Given the description of an element on the screen output the (x, y) to click on. 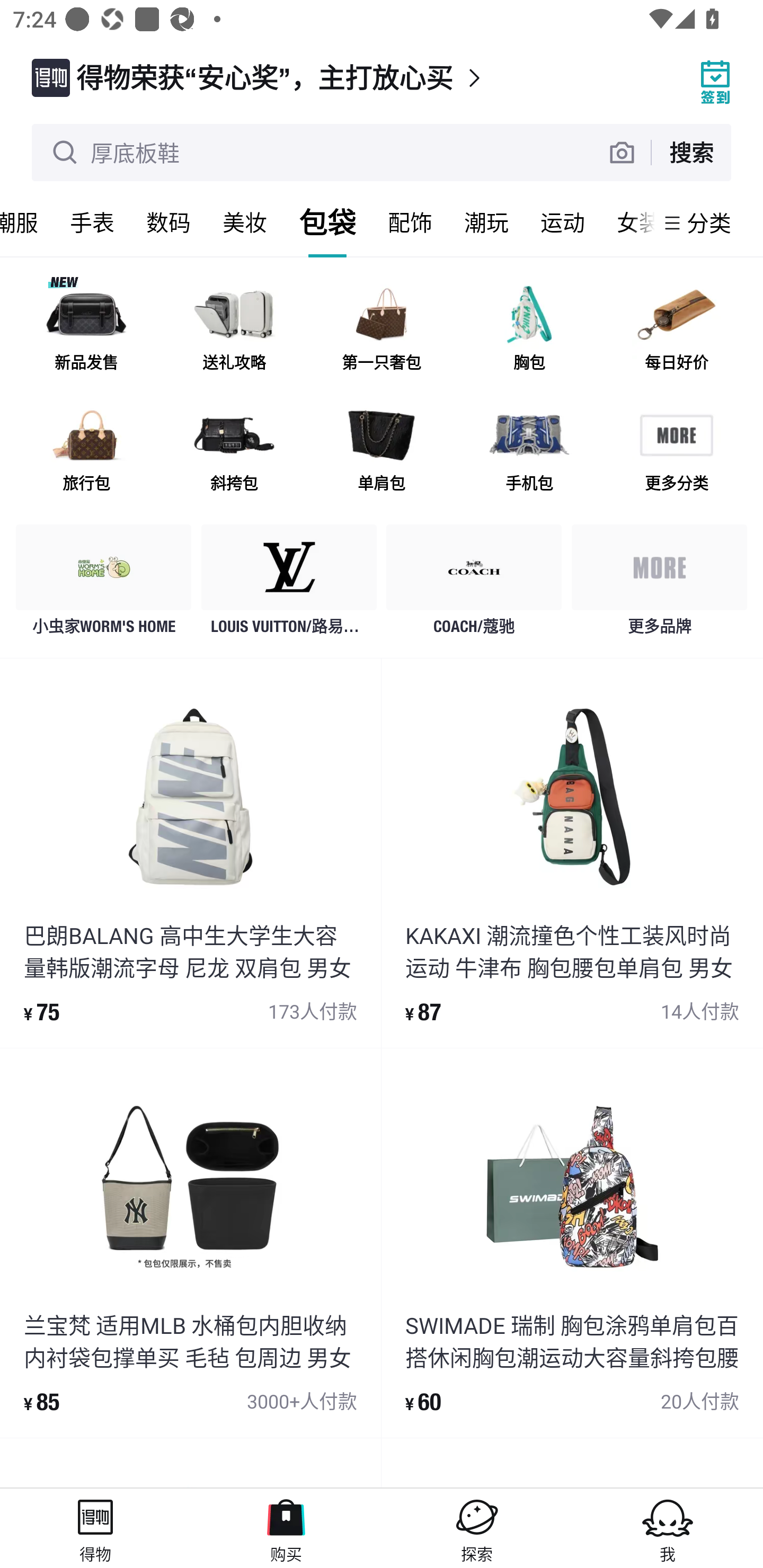
搜索 (690, 152)
潮服 (27, 222)
手表 (92, 222)
数码 (168, 222)
美妆 (244, 222)
包袋 (327, 222)
配饰 (410, 222)
潮玩 (486, 222)
运动 (562, 222)
女装 (627, 222)
分类 (708, 222)
新品发售 (86, 329)
送礼攻略 (233, 329)
第一只奢包 (381, 329)
胸包 (528, 329)
每日好价 (676, 329)
旅行包 (86, 450)
斜挎包 (233, 450)
单肩包 (381, 450)
手机包 (528, 450)
更多分类 (676, 450)
小虫家WORM'S HOME (103, 583)
LOUIS VUITTON/路易威登 (288, 583)
COACH/蔻驰 (473, 583)
更多品牌 (658, 583)
得物 (95, 1528)
购买 (285, 1528)
探索 (476, 1528)
我 (667, 1528)
